Given the description of an element on the screen output the (x, y) to click on. 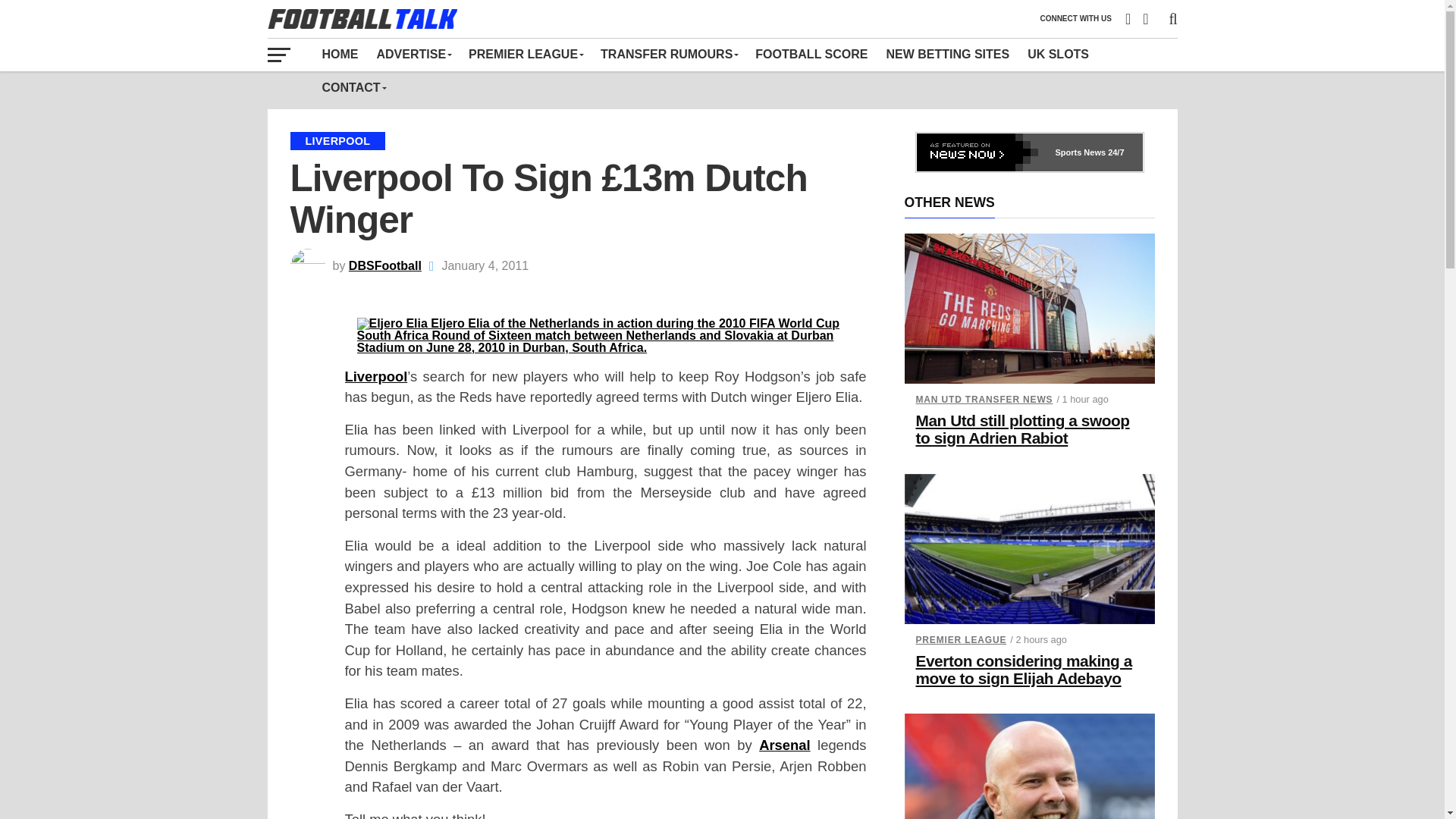
Premier League News (525, 54)
Advertise on Football-Talk (413, 54)
HOME (339, 54)
PREMIER LEAGUE (525, 54)
ADVERTISE (413, 54)
